Given the description of an element on the screen output the (x, y) to click on. 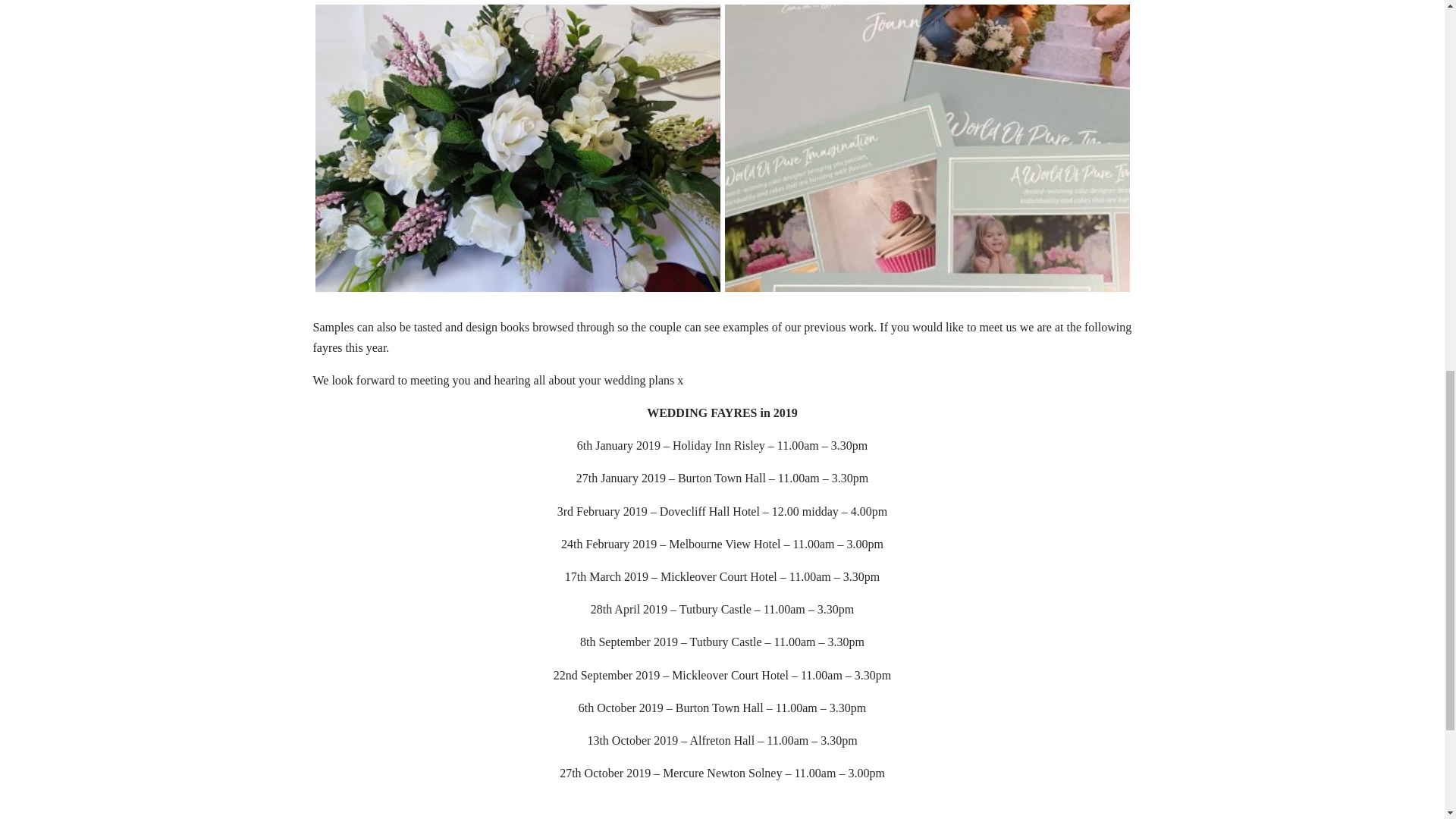
wedding fayre Flowers (517, 291)
wedding fayre information (927, 291)
